Given the description of an element on the screen output the (x, y) to click on. 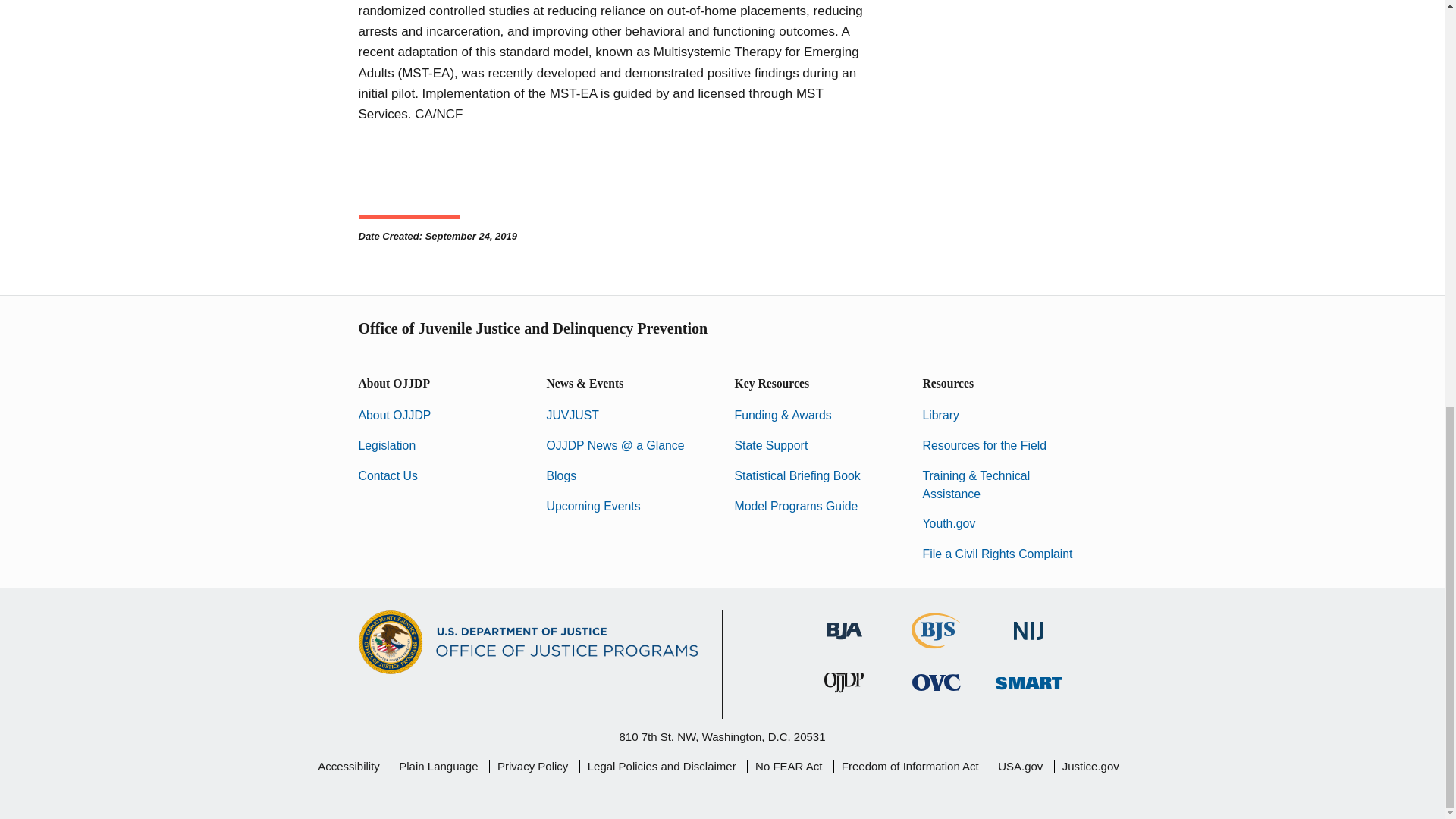
Contact Us (387, 475)
About OJJDP (394, 414)
Legislation (386, 445)
